Given the description of an element on the screen output the (x, y) to click on. 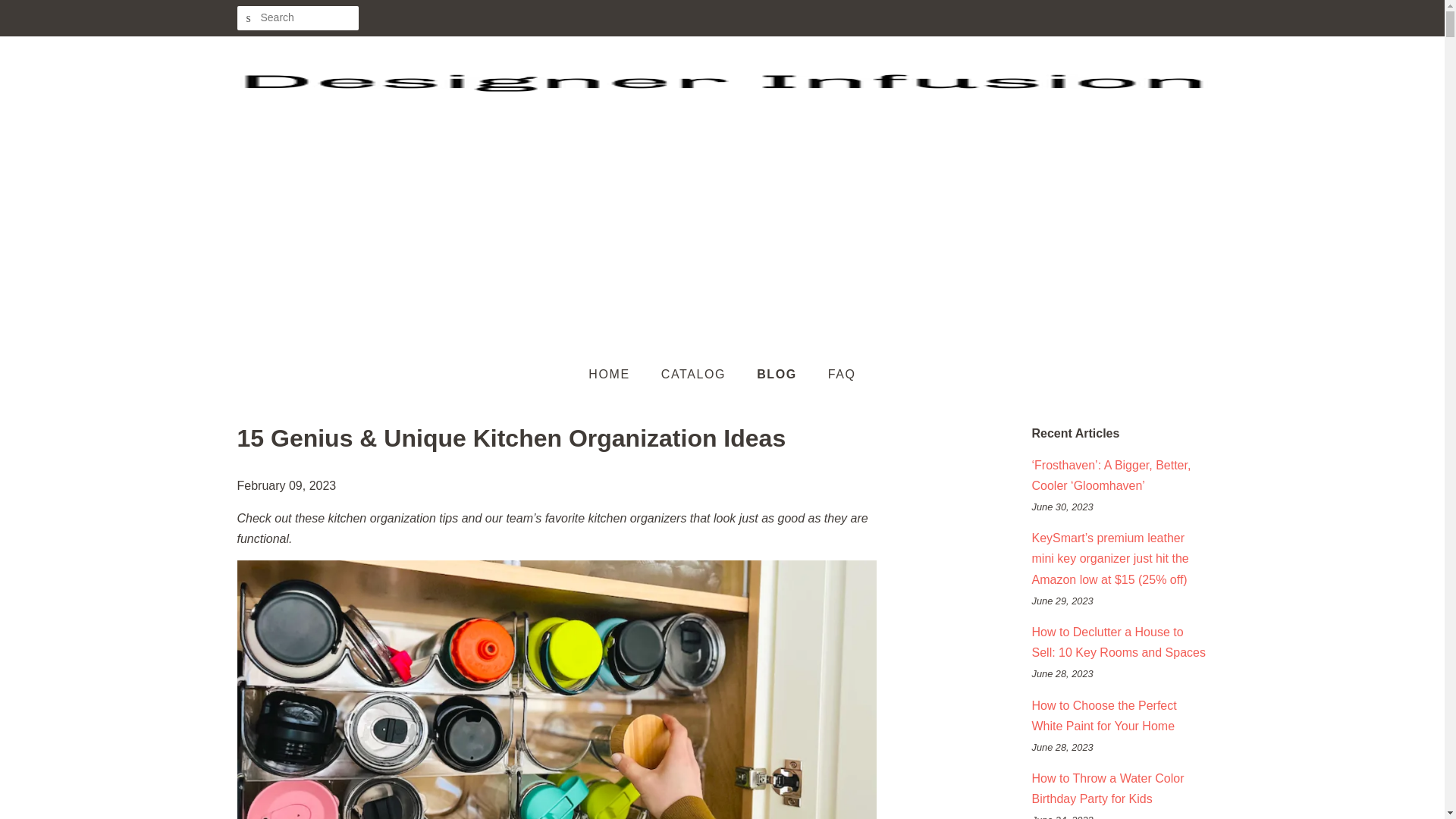
FAQ (836, 373)
BLOG (778, 373)
SEARCH (247, 18)
CATALOG (695, 373)
HOME (616, 373)
